Given the description of an element on the screen output the (x, y) to click on. 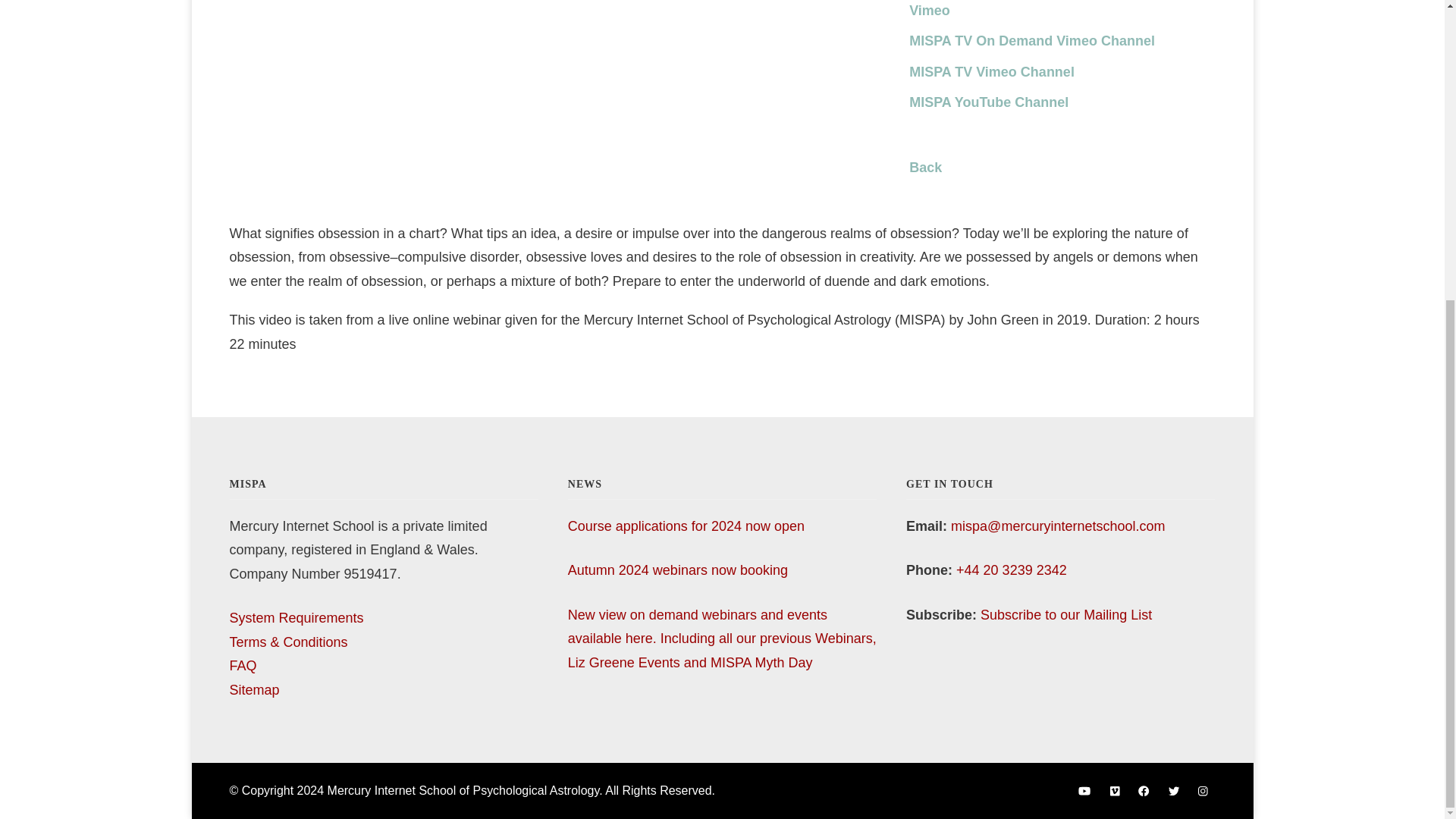
MISPA TV On Demand Vimeo Channel (1031, 40)
MISPA YouTube Channel (988, 102)
Angels and Demons - The Astrology of Obsession (557, 100)
Watch the full video on demand now on Vimeo (1037, 9)
MISPA TV Vimeo Channel (991, 71)
